Given the description of an element on the screen output the (x, y) to click on. 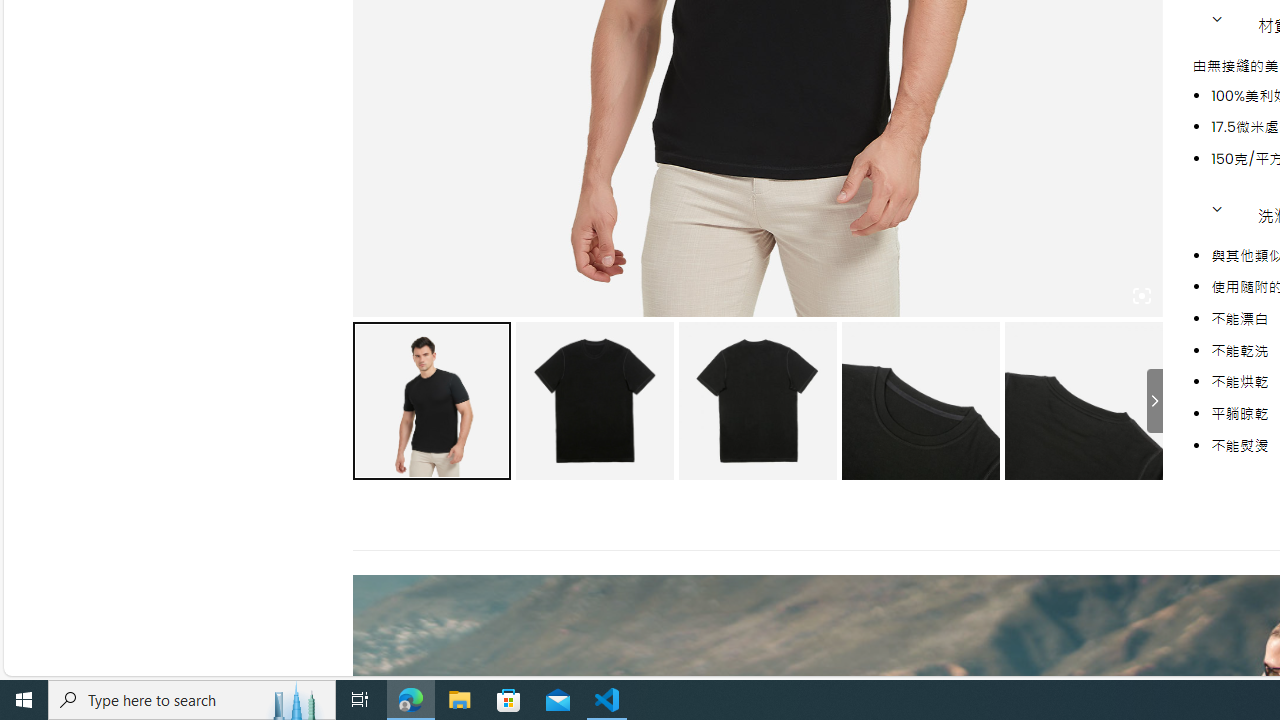
Class: iconic-woothumbs-fullscreen (1140, 296)
